Given the description of an element on the screen output the (x, y) to click on. 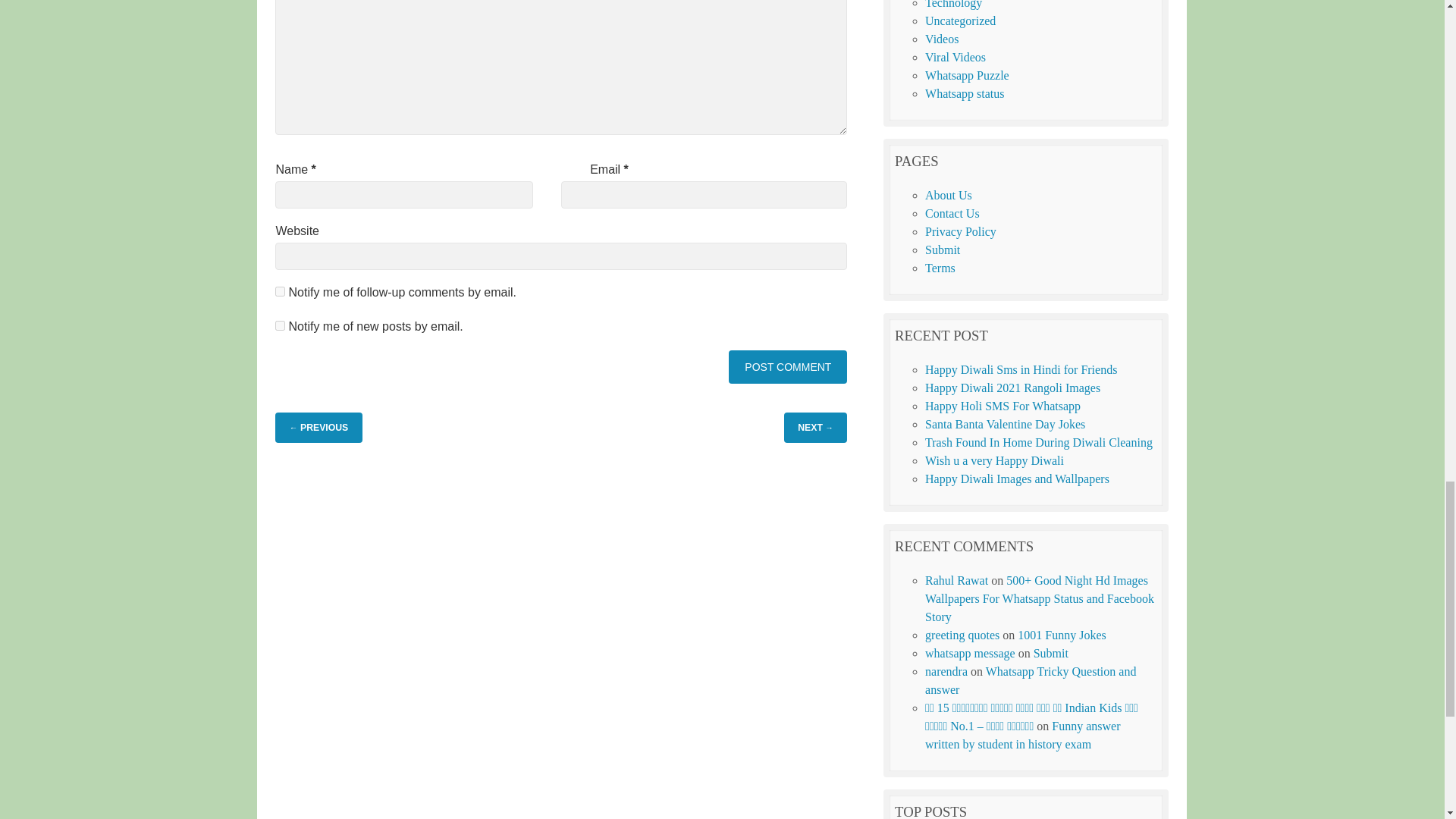
subscribe (280, 325)
subscribe (280, 291)
Post Comment (788, 367)
Post Comment (788, 367)
